Given the description of an element on the screen output the (x, y) to click on. 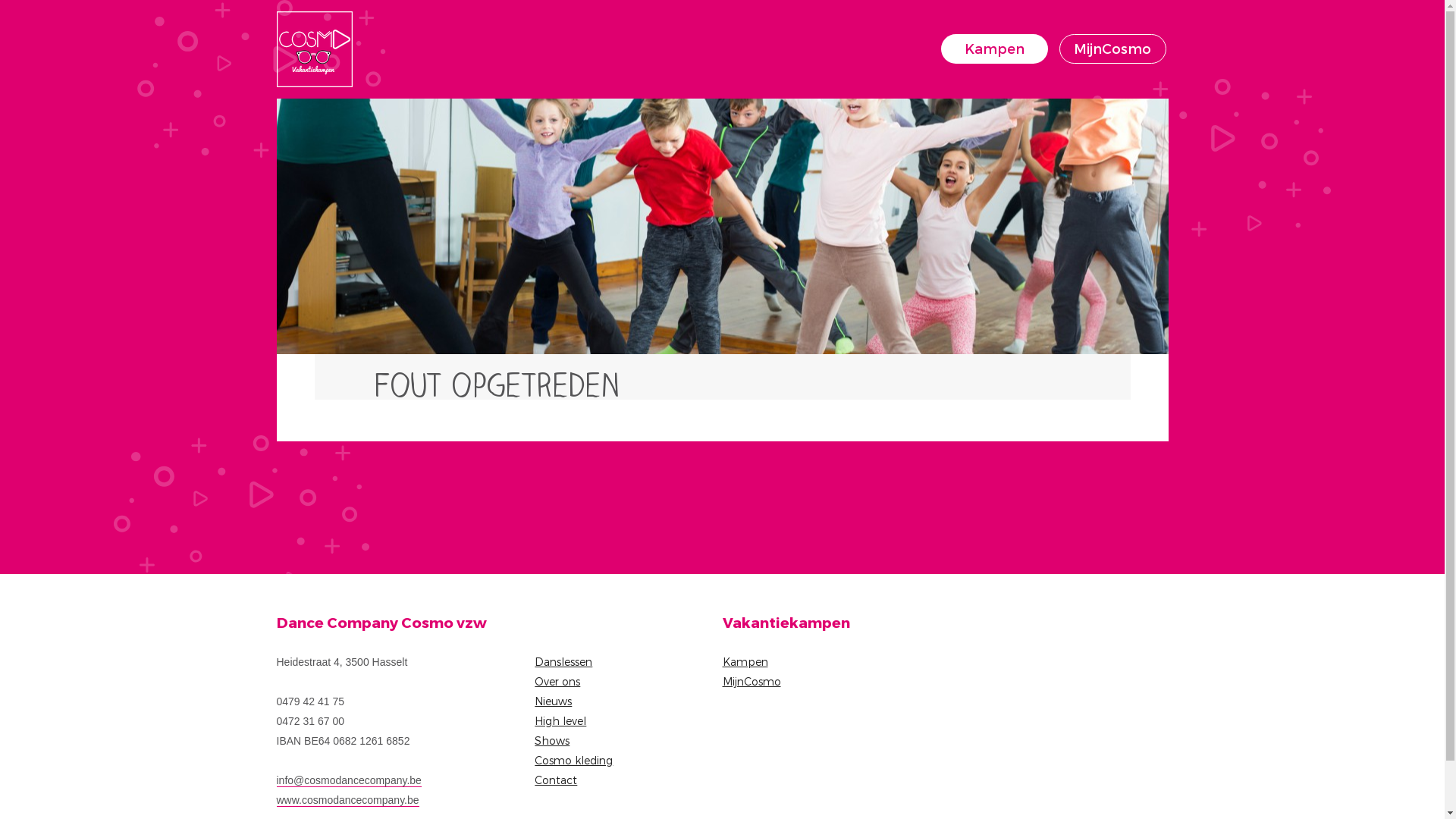
MijnCosmo Element type: text (1111, 48)
Cosmo kleding Element type: text (573, 759)
High level Element type: text (560, 720)
Kampen Element type: text (993, 48)
info@cosmodancecompany.be Element type: text (348, 780)
Nieuws Element type: text (552, 700)
Shows Element type: text (551, 740)
www.cosmodancecompany.be Element type: text (347, 799)
MijnCosmo Element type: text (750, 680)
Kampen Element type: text (744, 661)
Over ons Element type: text (557, 680)
Danslessen Element type: text (563, 661)
Contact Element type: text (555, 779)
